Given the description of an element on the screen output the (x, y) to click on. 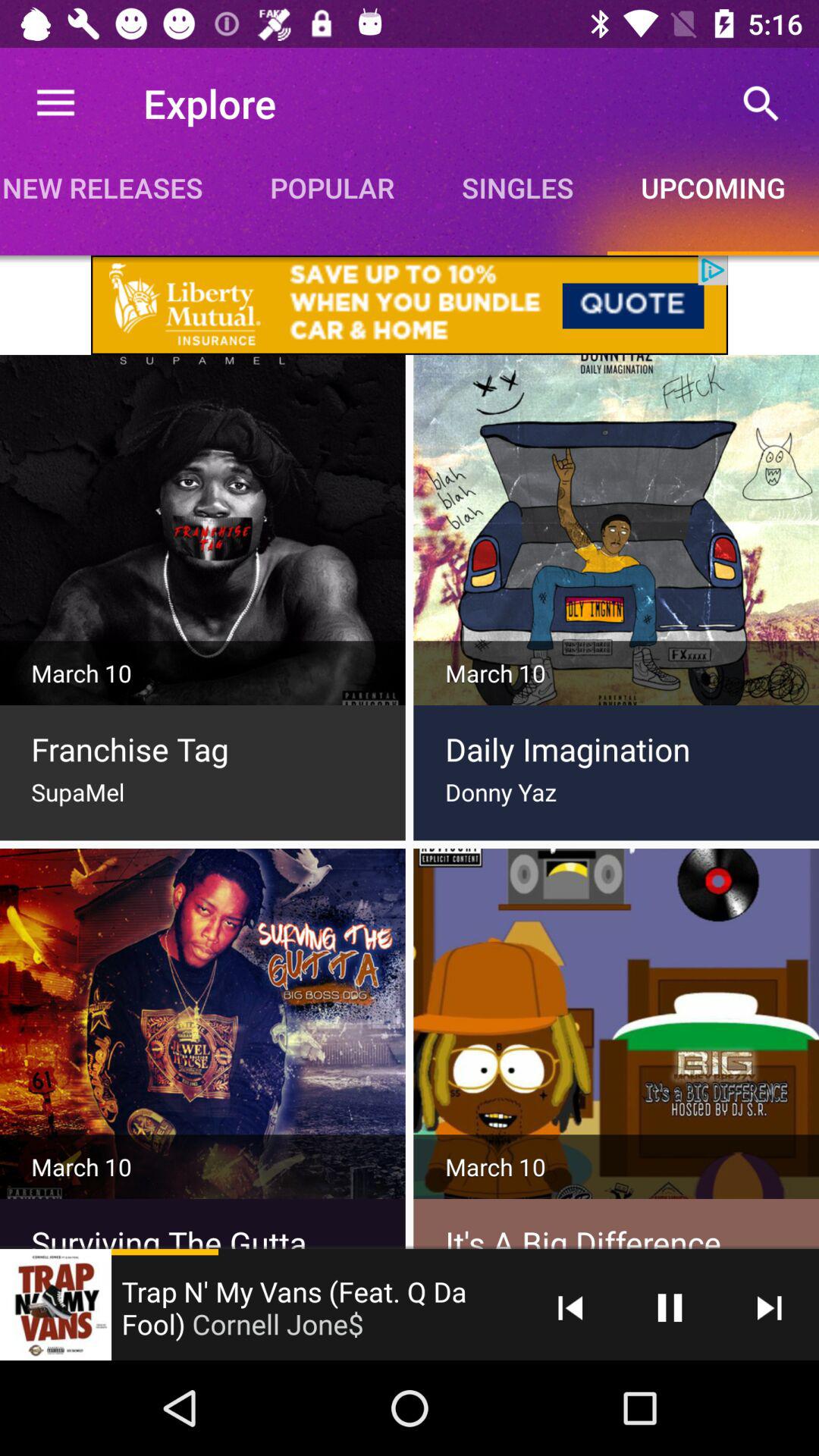
choose the app below the new releases icon (409, 304)
